Given the description of an element on the screen output the (x, y) to click on. 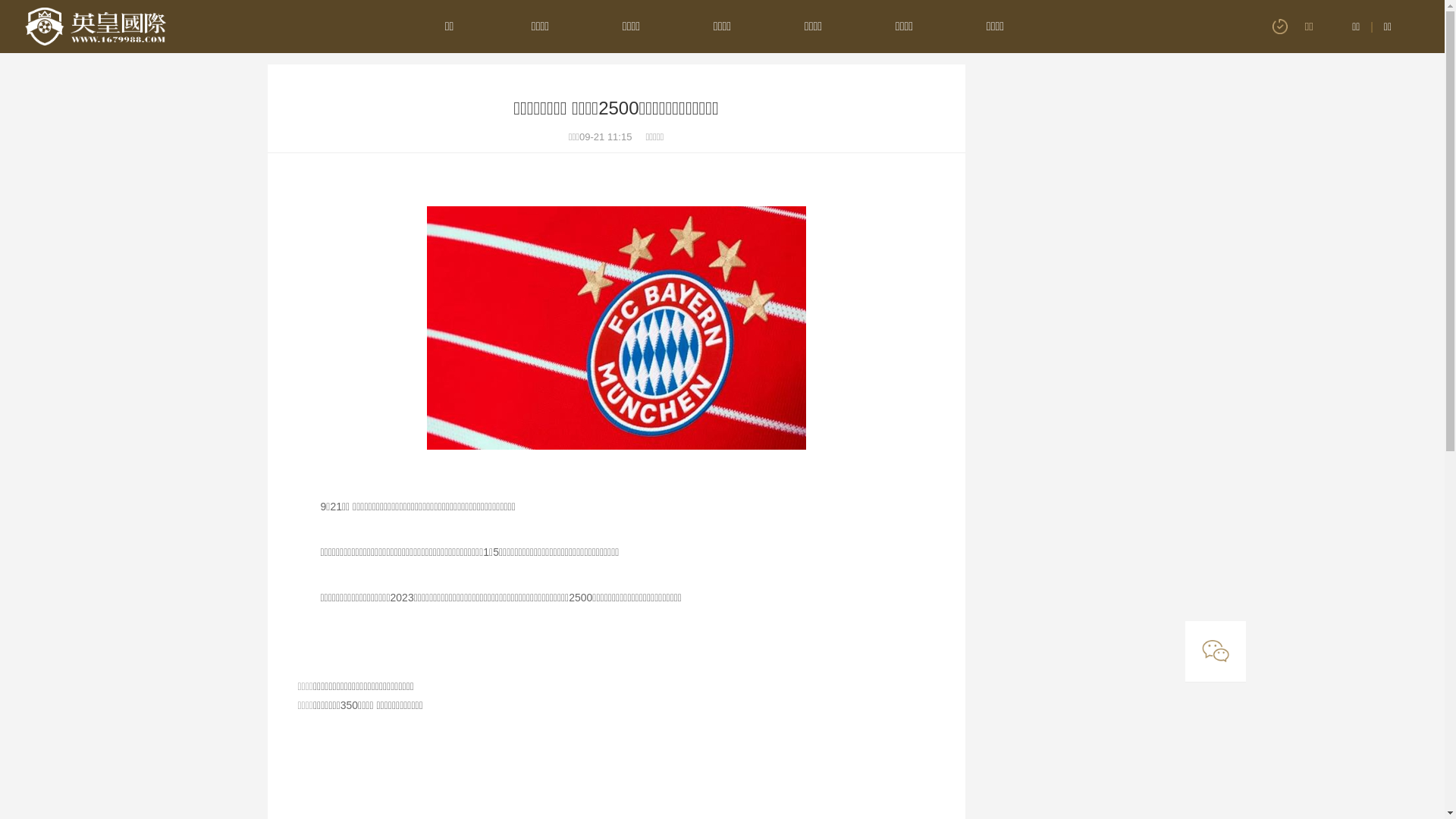
| Element type: text (1371, 26)
